Given the description of an element on the screen output the (x, y) to click on. 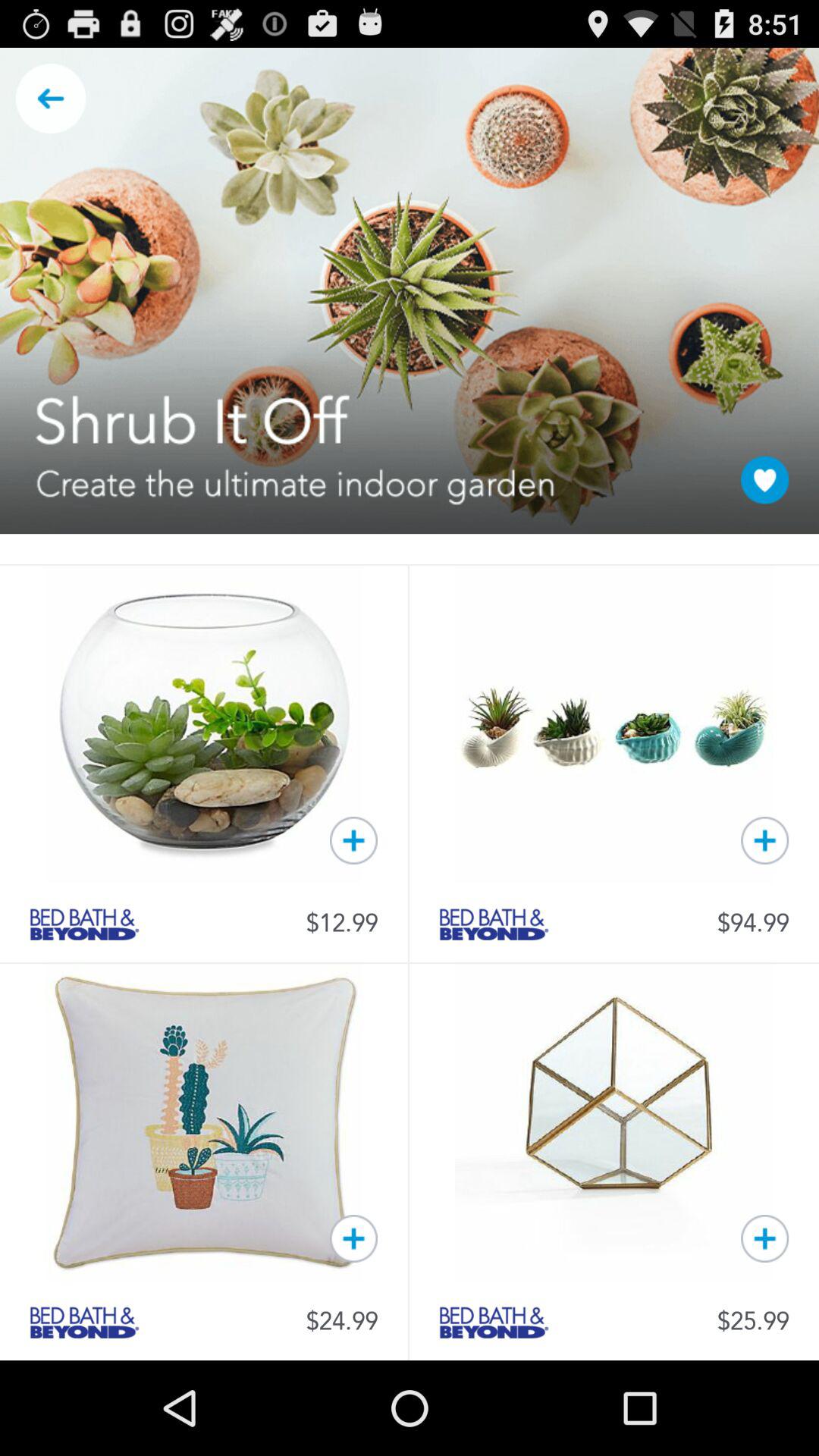
view product (493, 1322)
